Given the description of an element on the screen output the (x, y) to click on. 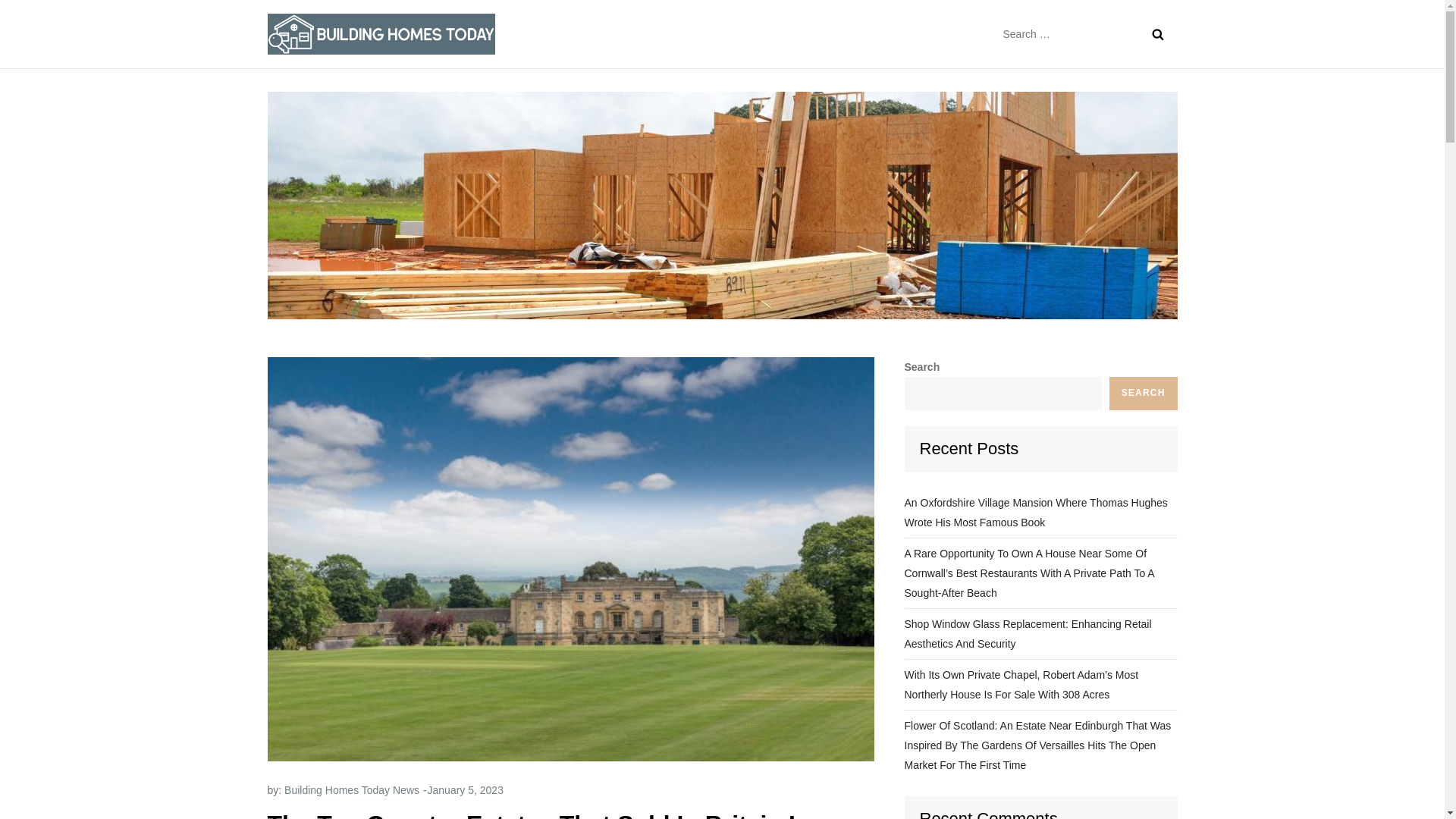
Building Homes Today News (351, 789)
SEARCH (1143, 393)
January 5, 2023 (465, 789)
Building Homes Today (617, 47)
